Given the description of an element on the screen output the (x, y) to click on. 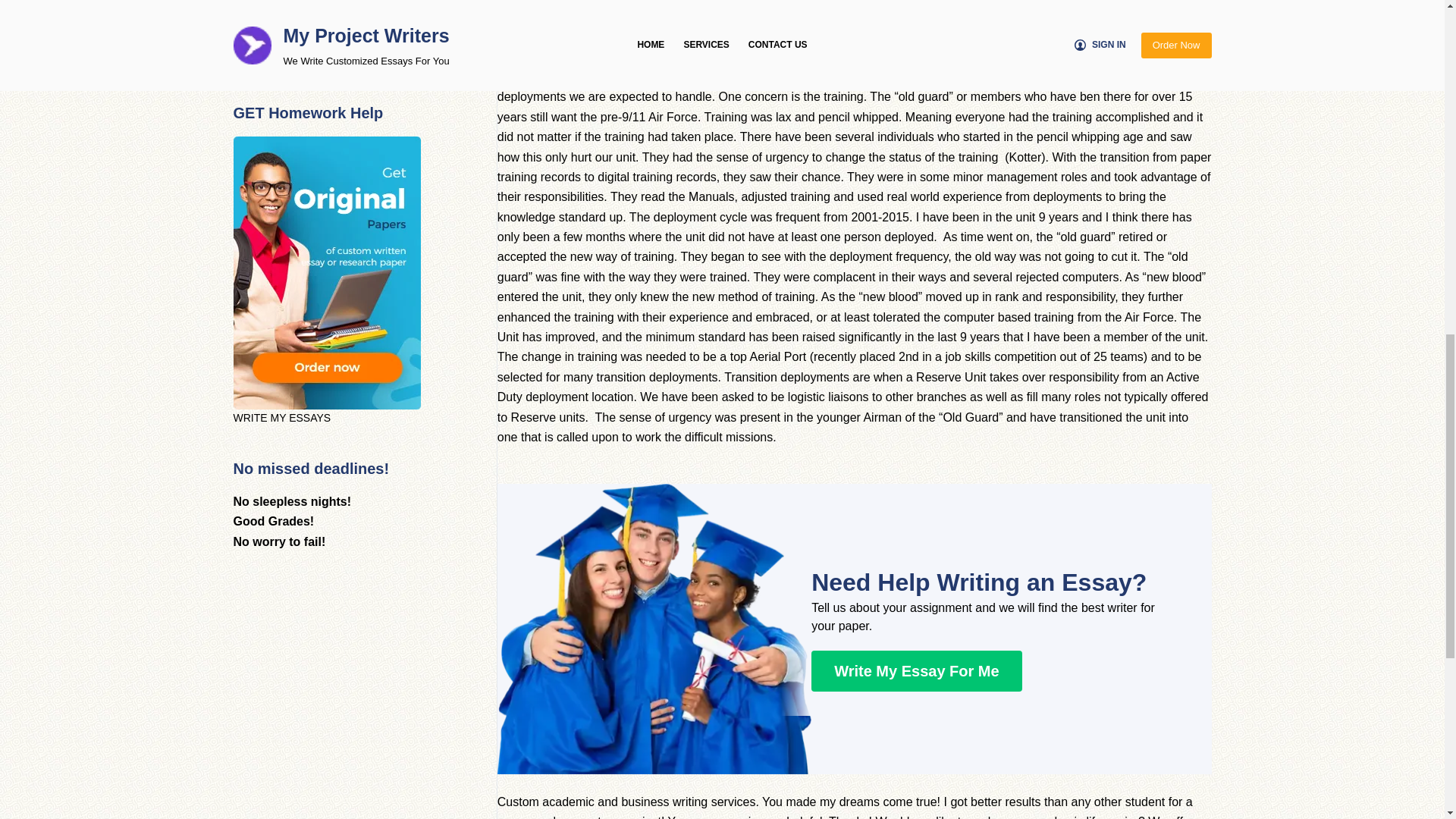
Write My Essay For Me (916, 670)
